Given the description of an element on the screen output the (x, y) to click on. 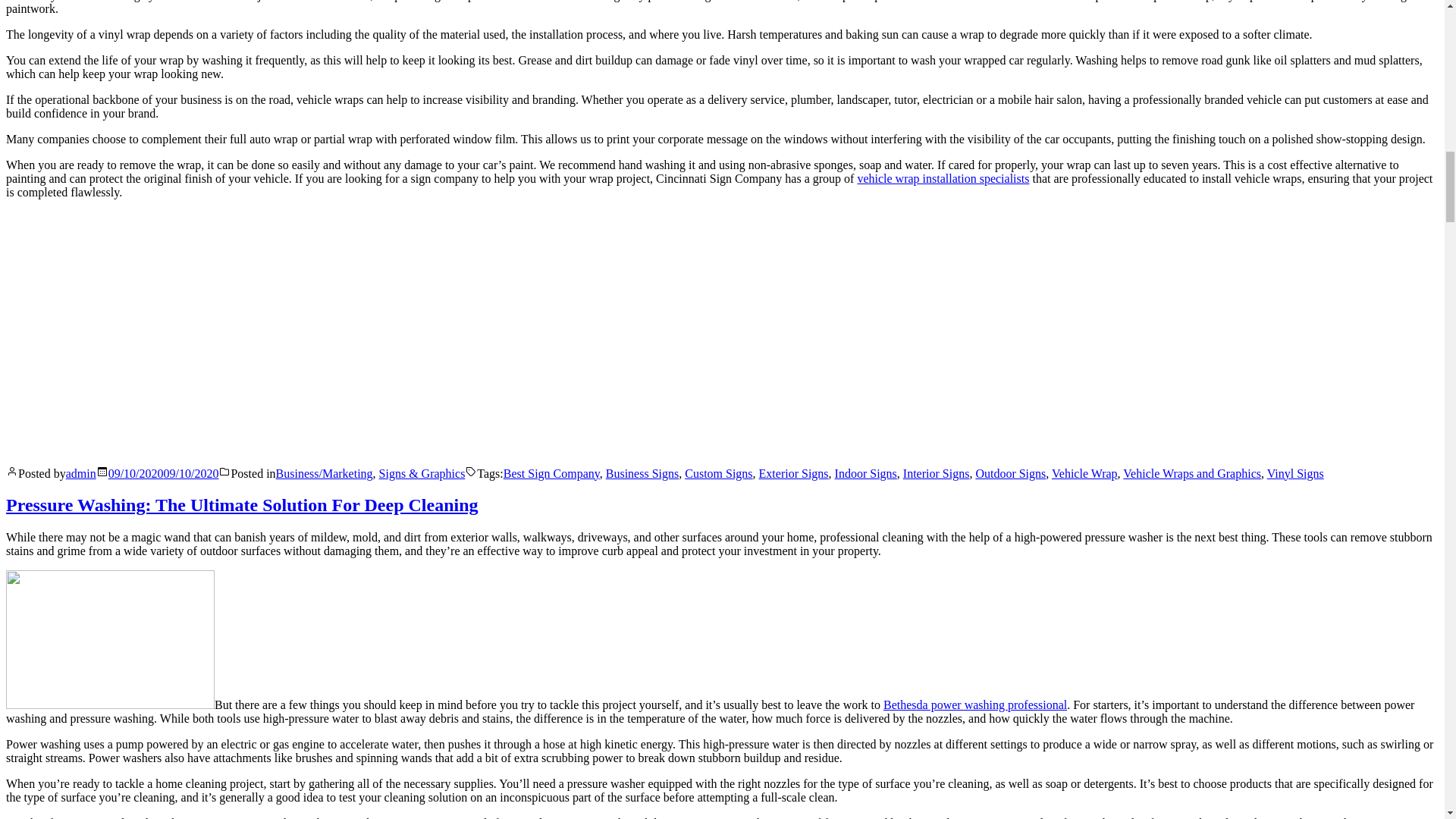
Vinyl Signs (1294, 472)
Interior Signs (935, 472)
Exterior Signs (793, 472)
Vehicle Wrap (1084, 472)
Pressure Washing: The Ultimate Solution For Deep Cleaning (242, 505)
Business Signs (641, 472)
YouTube video player (217, 329)
Vehicle Wraps and Graphics (1191, 472)
vehicle wrap installation specialists (943, 177)
admin (80, 472)
Outdoor Signs (1010, 472)
Custom Signs (718, 472)
Indoor Signs (865, 472)
Best Sign Company (551, 472)
